Given the description of an element on the screen output the (x, y) to click on. 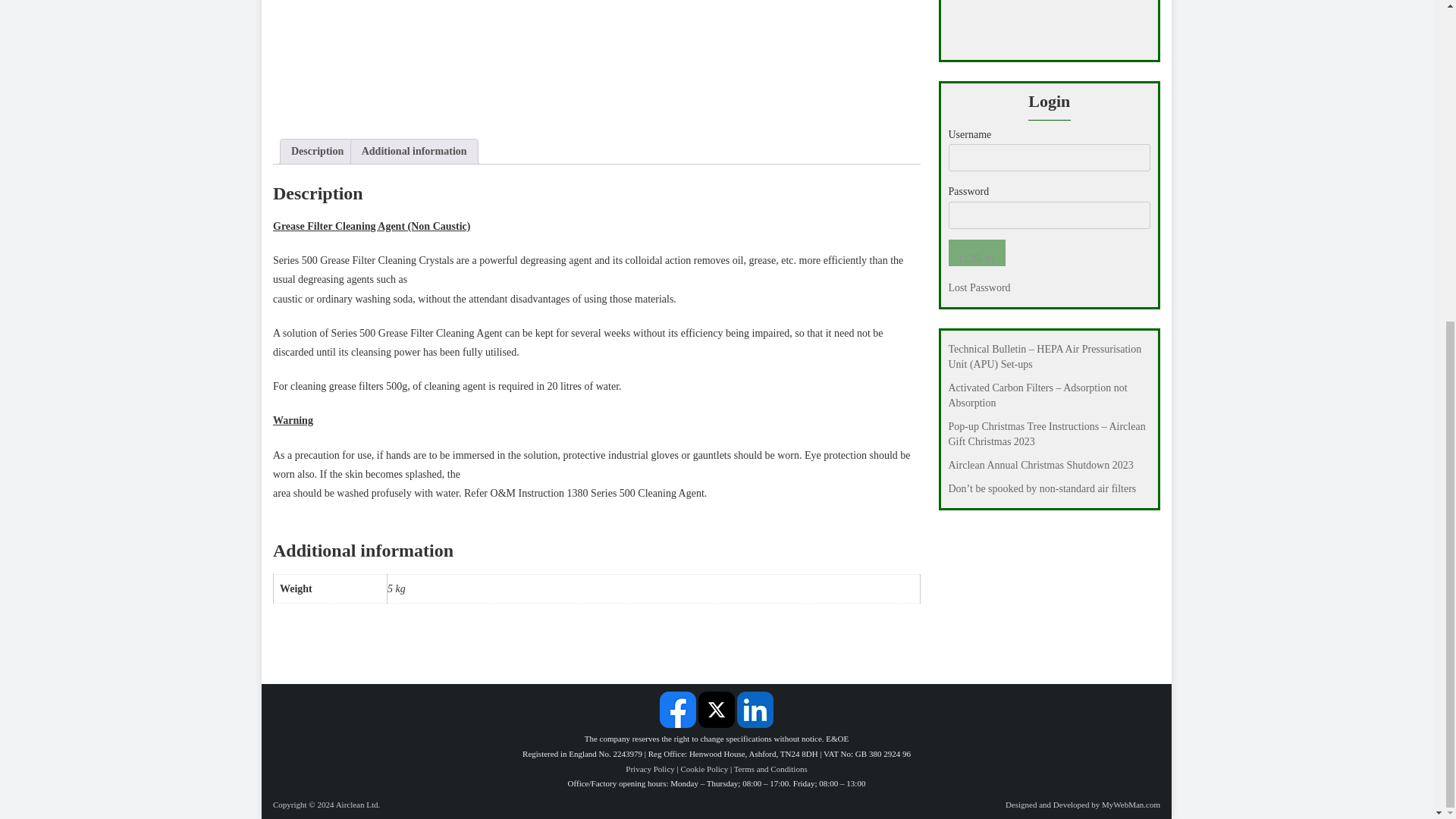
Log In (975, 252)
